Given the description of an element on the screen output the (x, y) to click on. 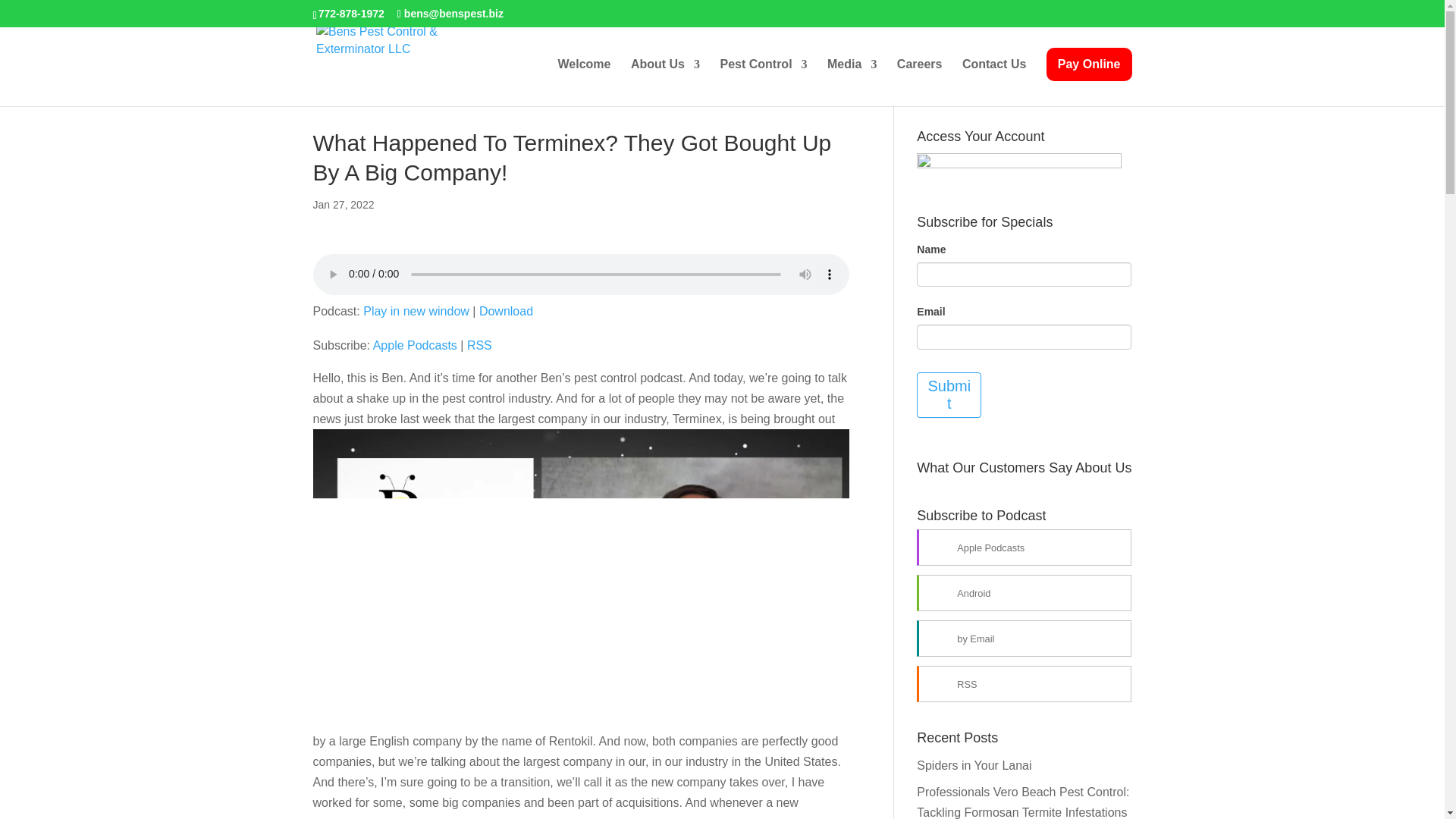
Careers (919, 63)
About Us (665, 63)
Subscribe on Android (1024, 592)
Subscribe via RSS (479, 345)
by Email (1024, 637)
Apple Podcasts (414, 345)
RSS (1024, 683)
Apple Podcasts (1024, 547)
Download (505, 310)
Subscribe by Email (1024, 637)
Android (1024, 592)
Play in new window (415, 310)
Pay Online (1089, 64)
Play in new window (415, 310)
